Given the description of an element on the screen output the (x, y) to click on. 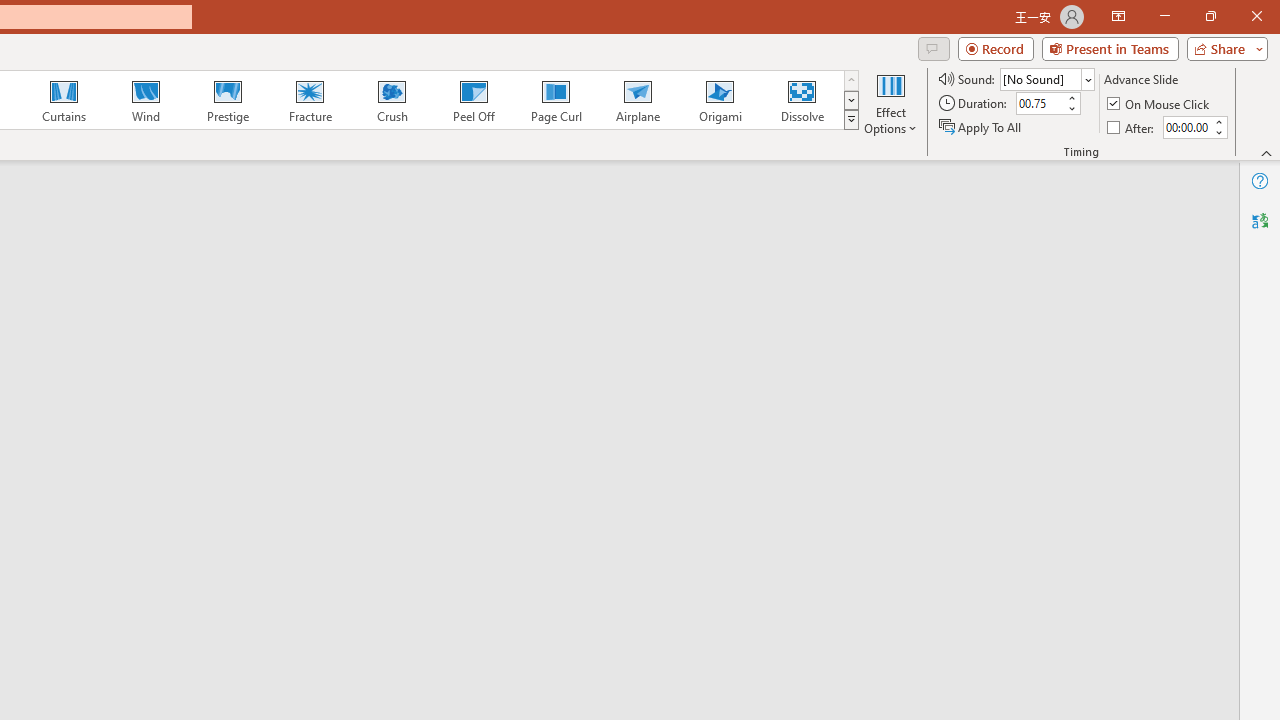
Apply To All (981, 126)
Sound (1046, 78)
Peel Off (473, 100)
Airplane (637, 100)
Crush (391, 100)
Duration (1039, 103)
Origami (719, 100)
